Given the description of an element on the screen output the (x, y) to click on. 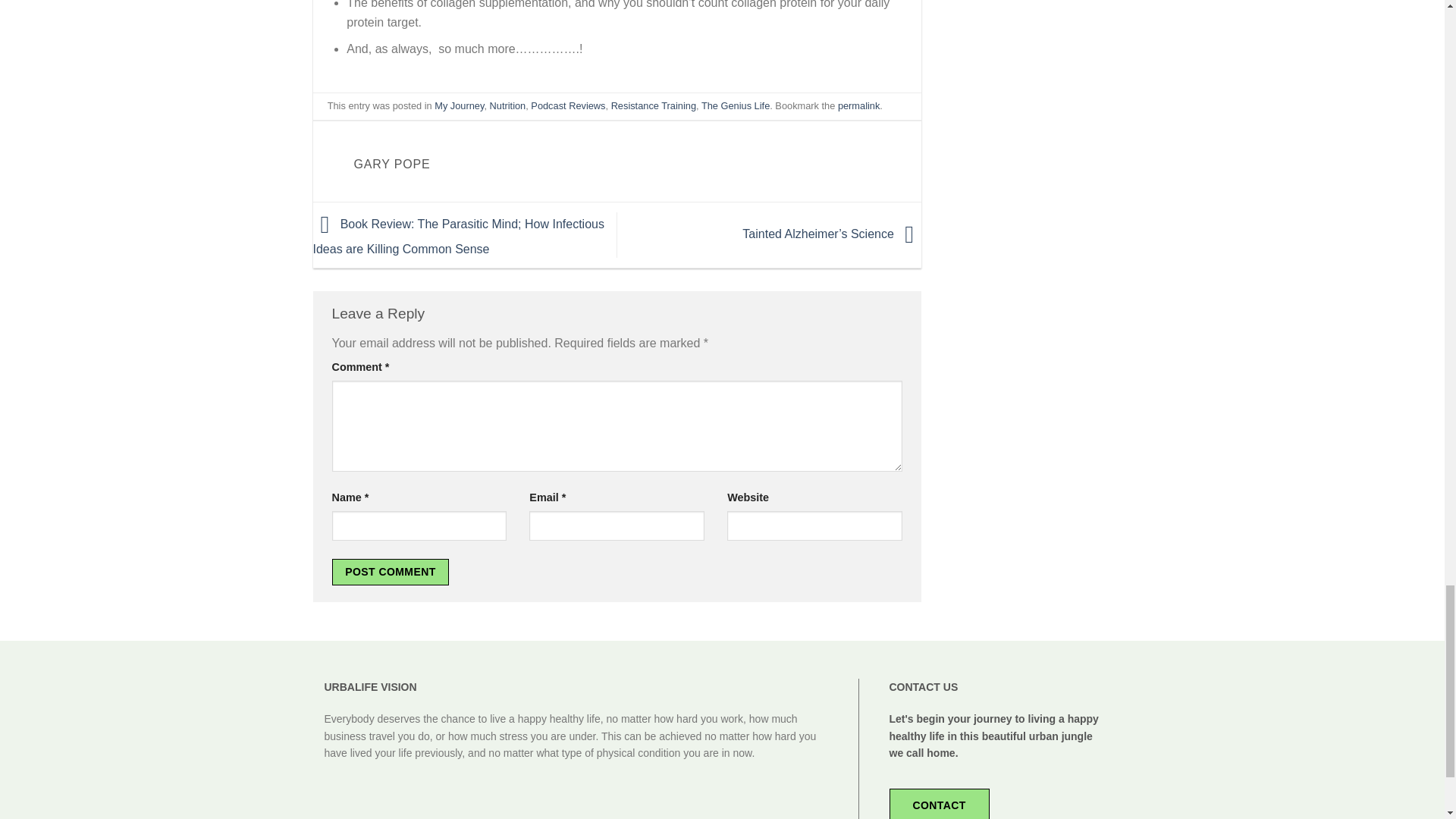
Post Comment (390, 572)
